Given the description of an element on the screen output the (x, y) to click on. 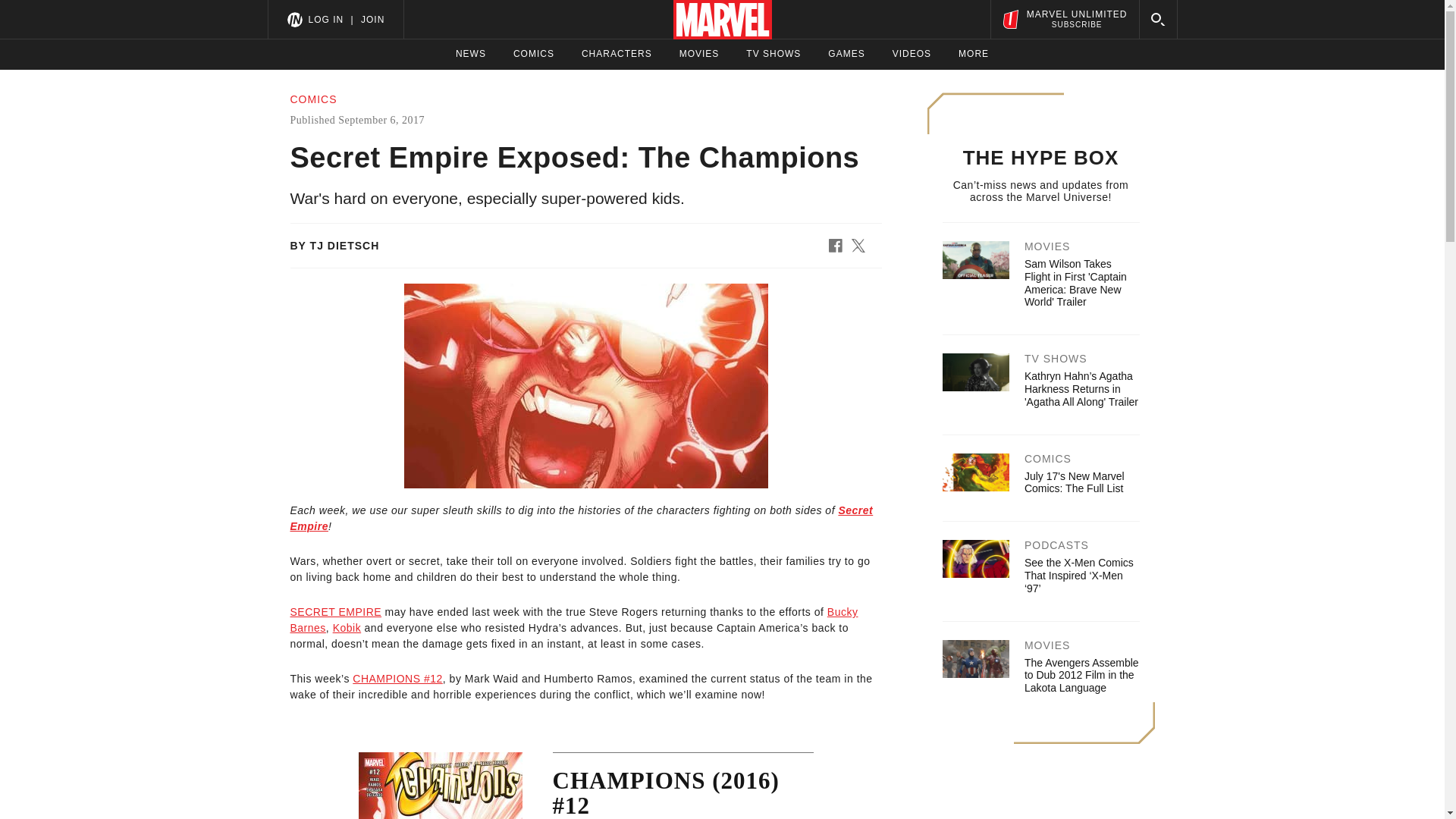
NEWS (1064, 19)
GAMES (470, 54)
JOIN (846, 54)
Kobik (372, 18)
CHARACTERS (347, 627)
Secret Empire (616, 54)
TV SHOWS (580, 518)
VIDEOS (772, 54)
SECRET EMPIRE (911, 54)
LOG IN (335, 612)
MORE (325, 18)
Bucky Barnes (973, 54)
COMICS (573, 619)
MOVIES (533, 54)
